Given the description of an element on the screen output the (x, y) to click on. 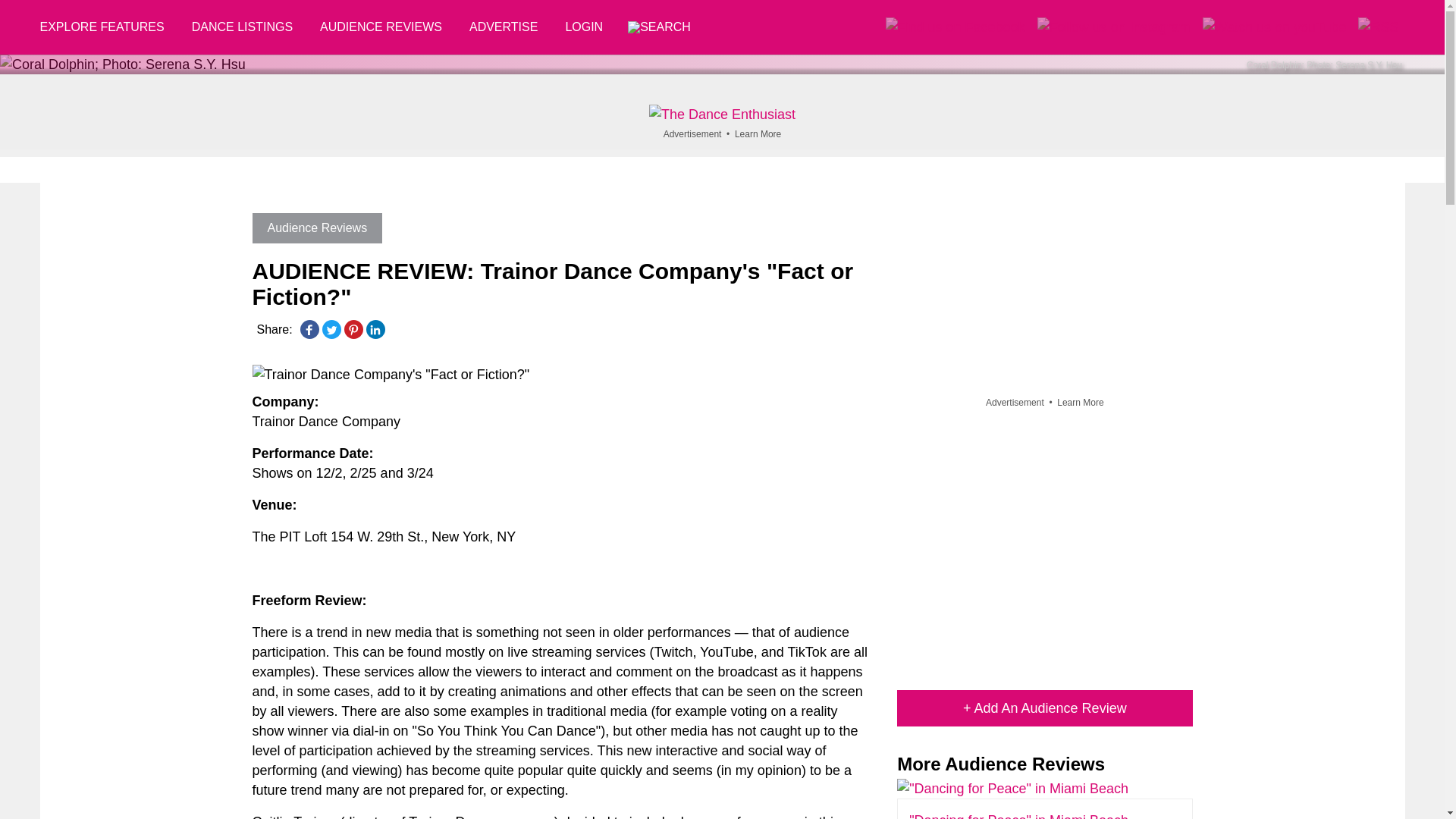
DANCE LISTINGS (241, 27)
ADVERTISE (503, 27)
LinkedIn (375, 328)
EXPLORE FEATURES (108, 27)
Twitter (331, 328)
AUDIENCE REVIEWS (380, 27)
LOGIN (583, 27)
Facebook (309, 328)
Pinterest (353, 328)
